Given the description of an element on the screen output the (x, y) to click on. 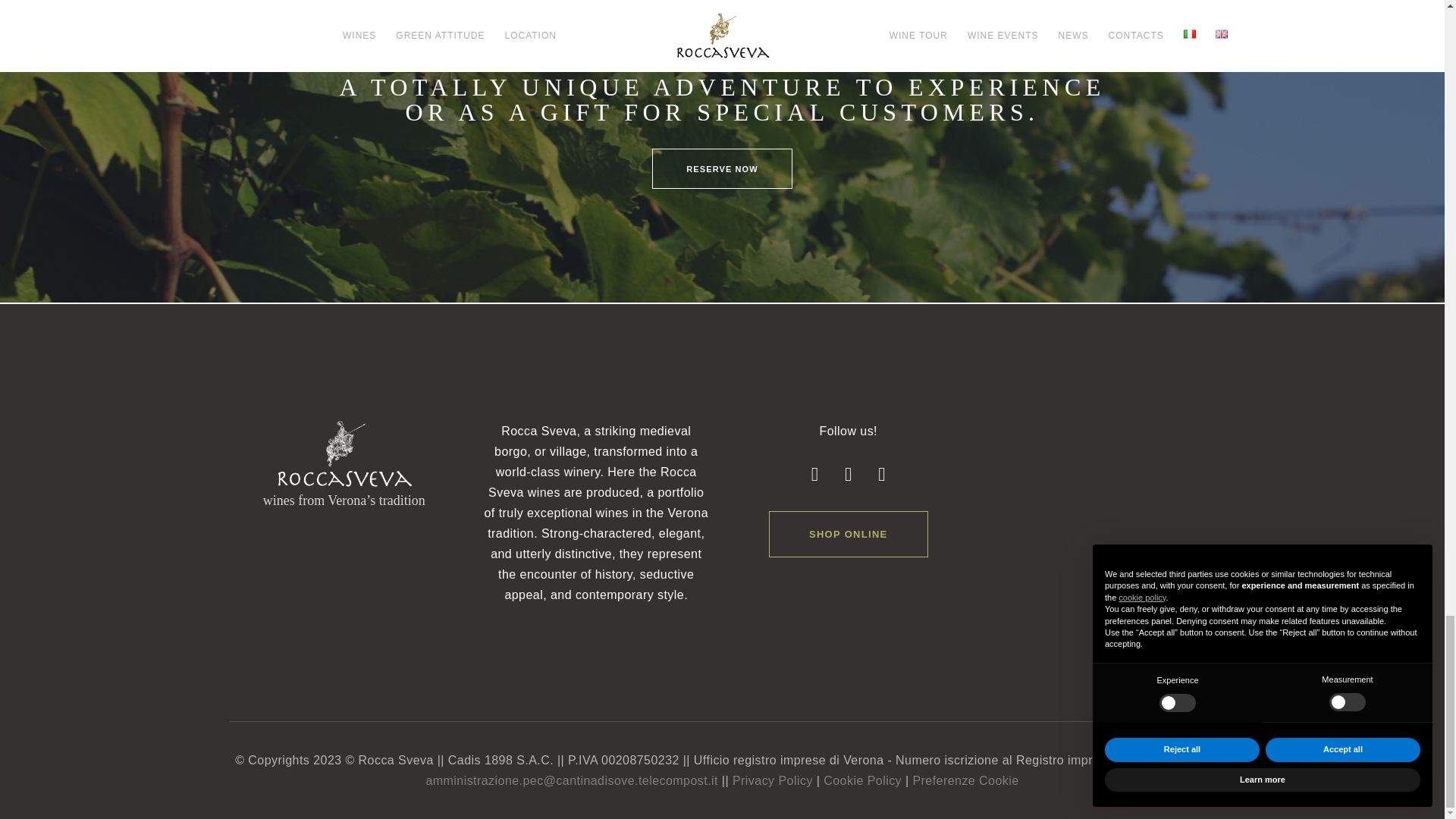
Privacy Policy  (772, 780)
Cookie Policy  (862, 780)
